Given the description of an element on the screen output the (x, y) to click on. 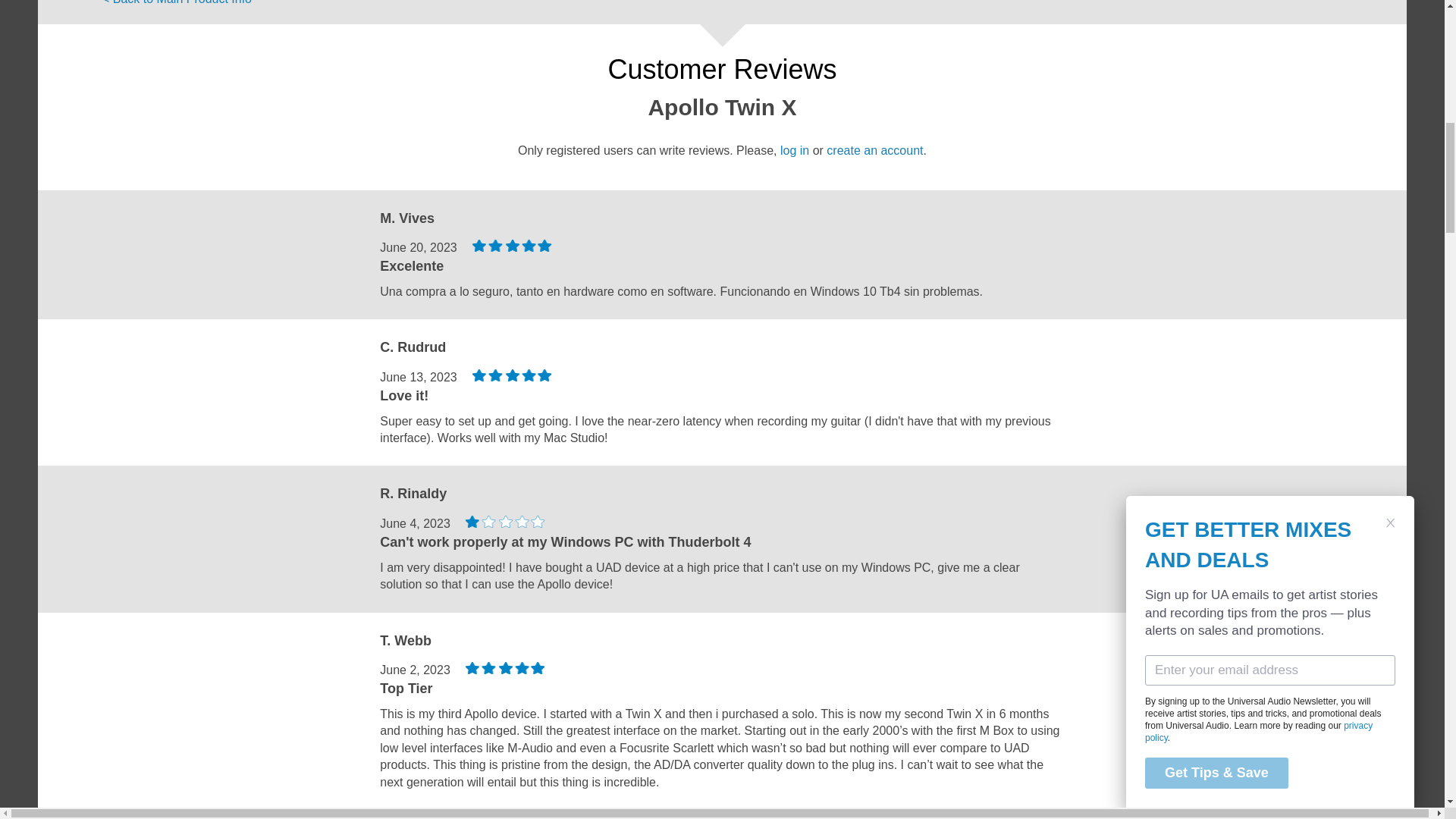
Back to Main Product Info (177, 5)
